Given the description of an element on the screen output the (x, y) to click on. 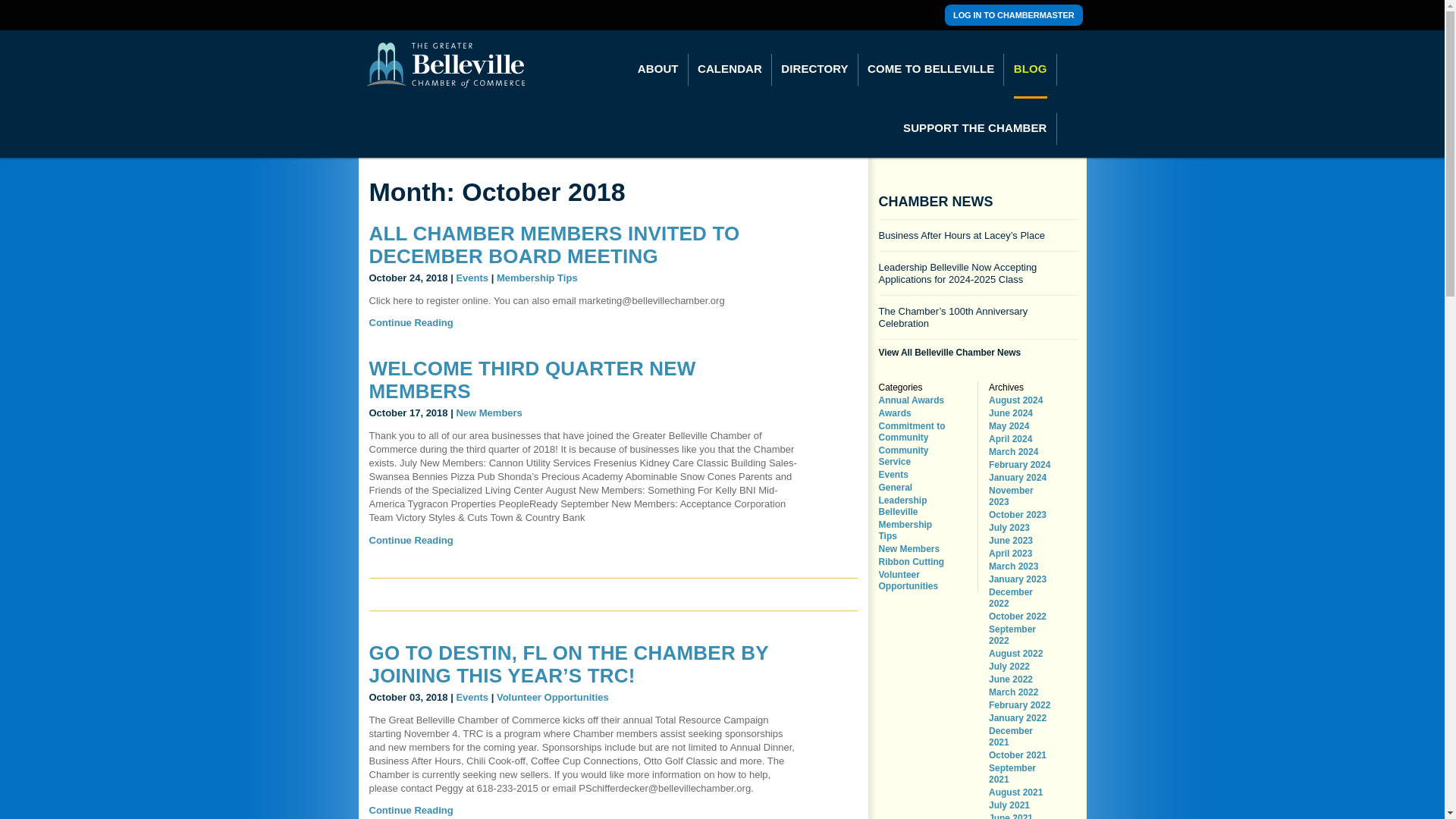
ALL CHAMBER MEMBERS INVITED TO DECEMBER BOARD MEETING (553, 244)
Events (471, 277)
CALENDAR (730, 68)
COME TO BELLEVILLE (930, 68)
Events (471, 696)
SUPPORT THE CHAMBER (974, 127)
Continue Reading (410, 322)
WELCOME THIRD QUARTER NEW MEMBERS (531, 379)
Membership Tips (537, 277)
ABOUT (657, 68)
